Given the description of an element on the screen output the (x, y) to click on. 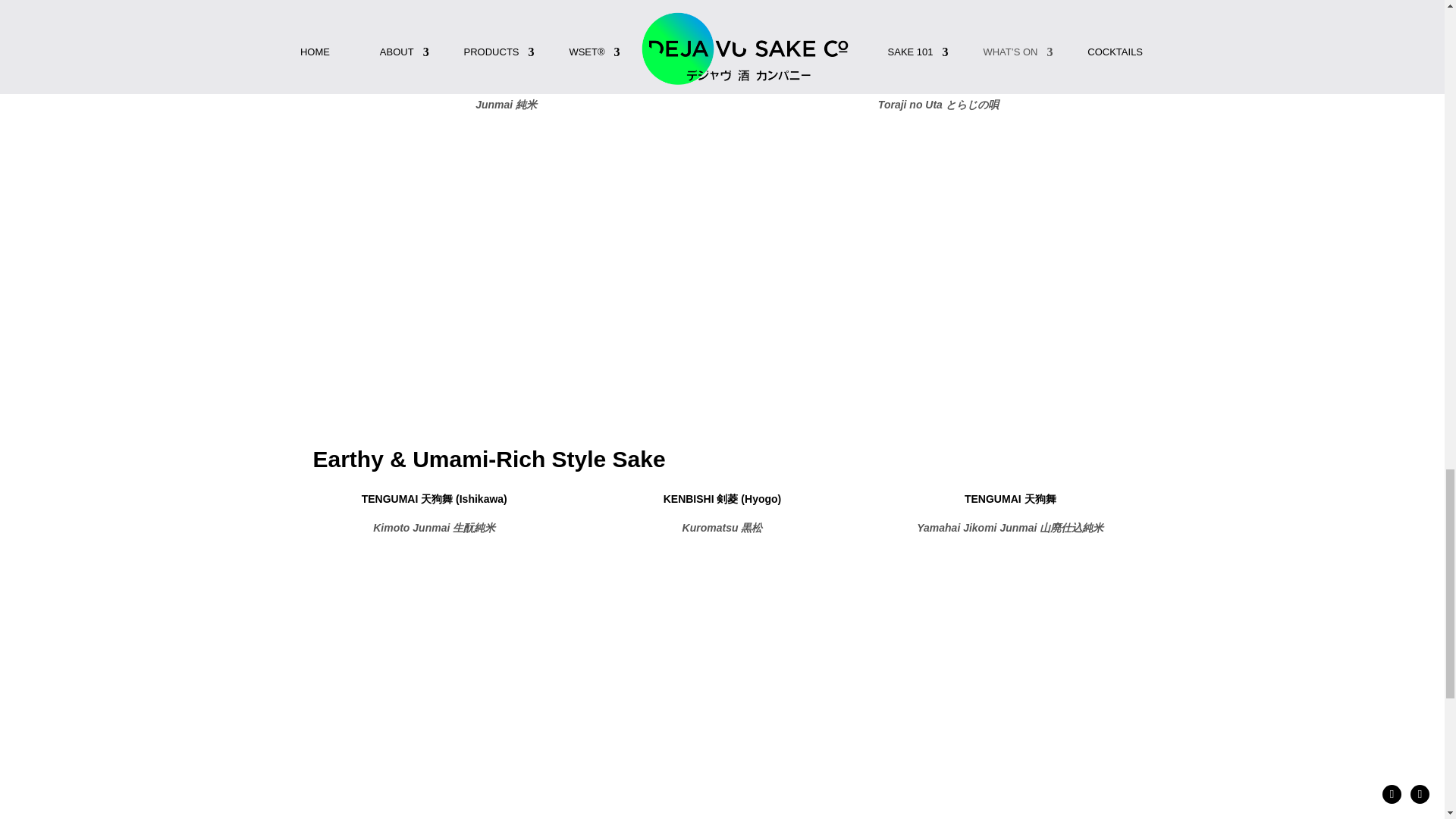
Tengumai Kimoto Junmai (433, 615)
Kenbishi Kuromatsu (721, 615)
Tengumai Yamahai Jikomi Junmai (1010, 590)
Shichida Junmai (505, 232)
Kunizakari Toraji no Uta (937, 232)
